Given the description of an element on the screen output the (x, y) to click on. 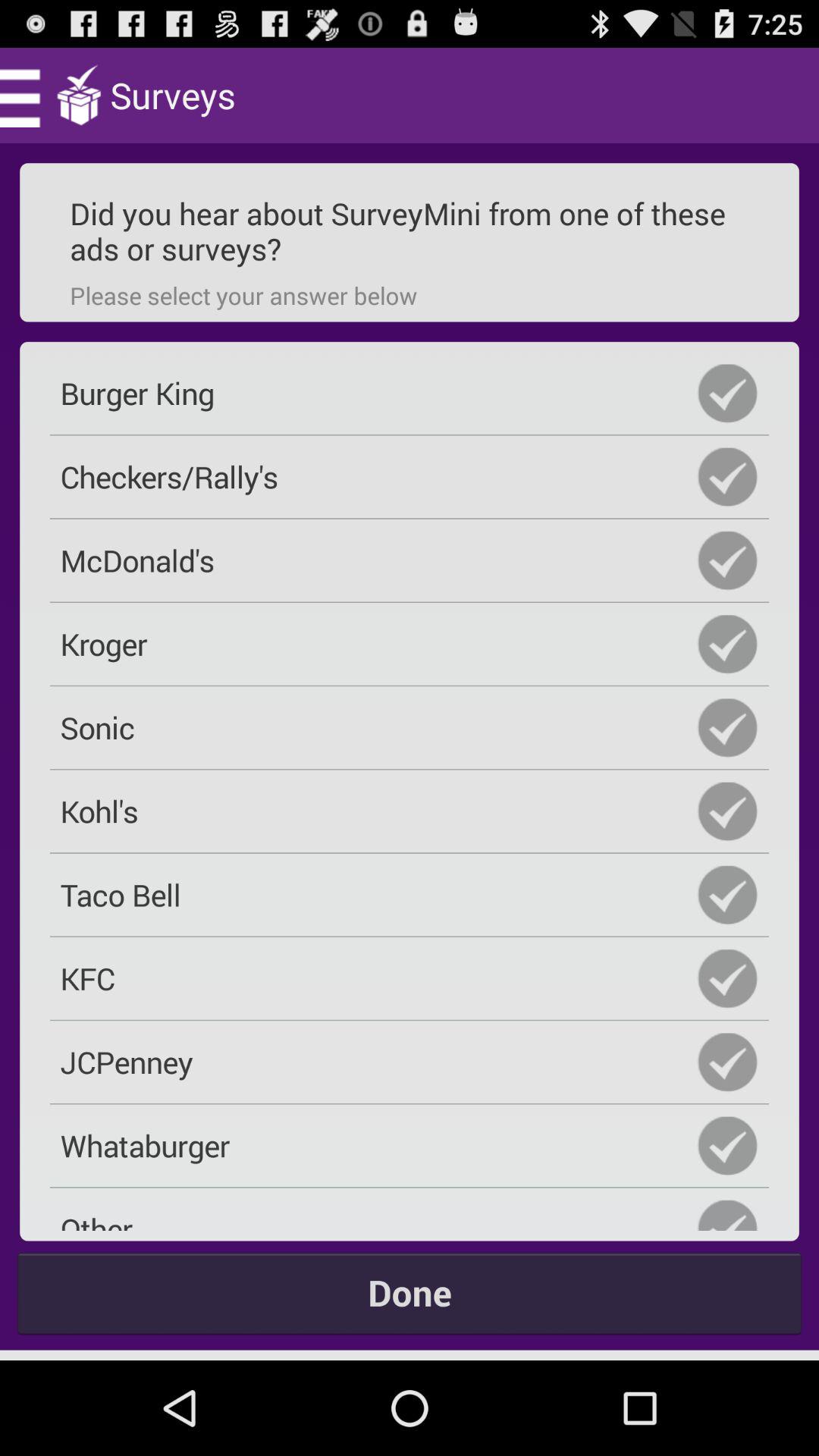
launch the item above the mcdonald's item (409, 476)
